Given the description of an element on the screen output the (x, y) to click on. 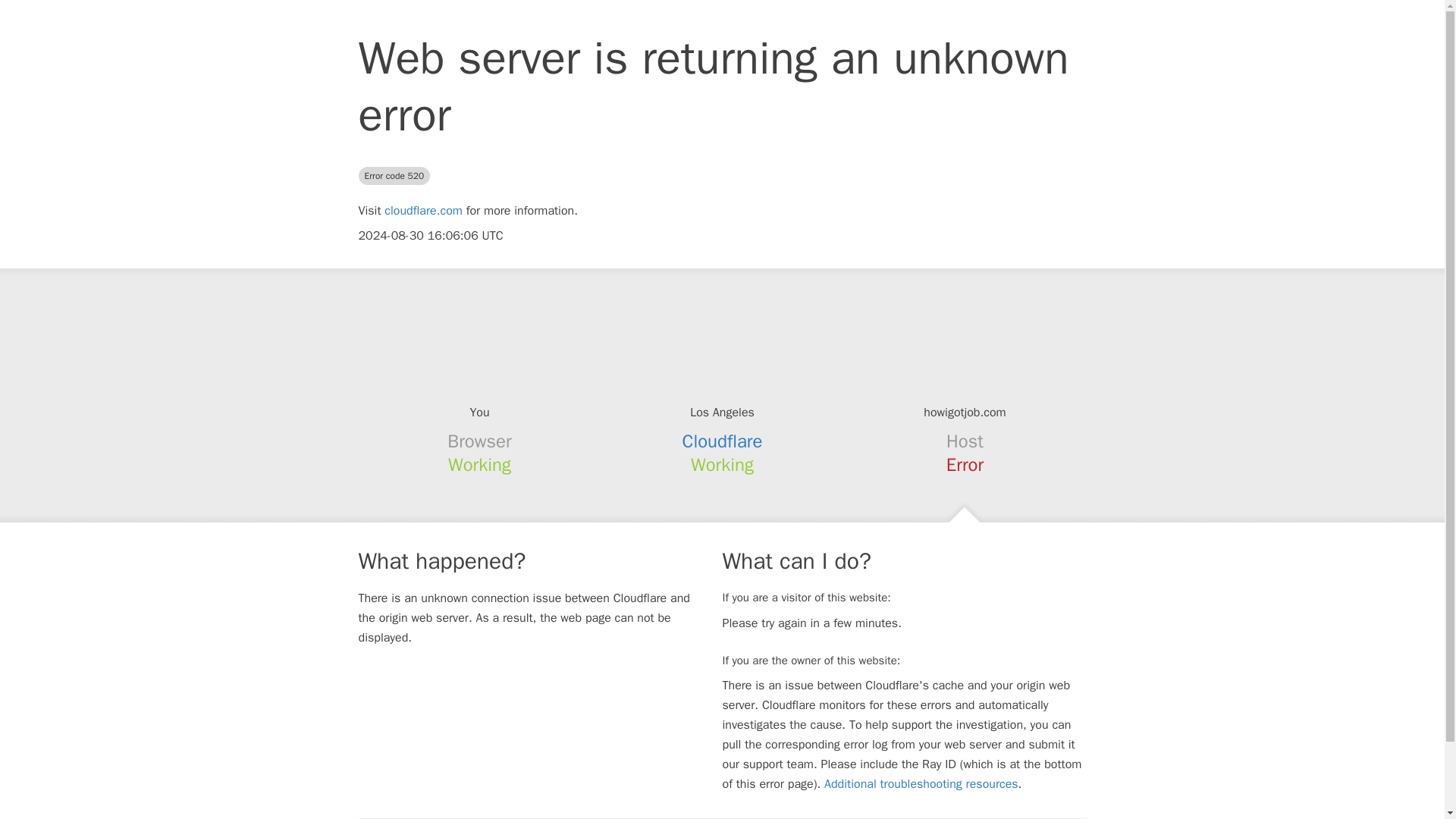
Additional troubleshooting resources (920, 783)
cloudflare.com (423, 210)
Cloudflare (722, 440)
